Given the description of an element on the screen output the (x, y) to click on. 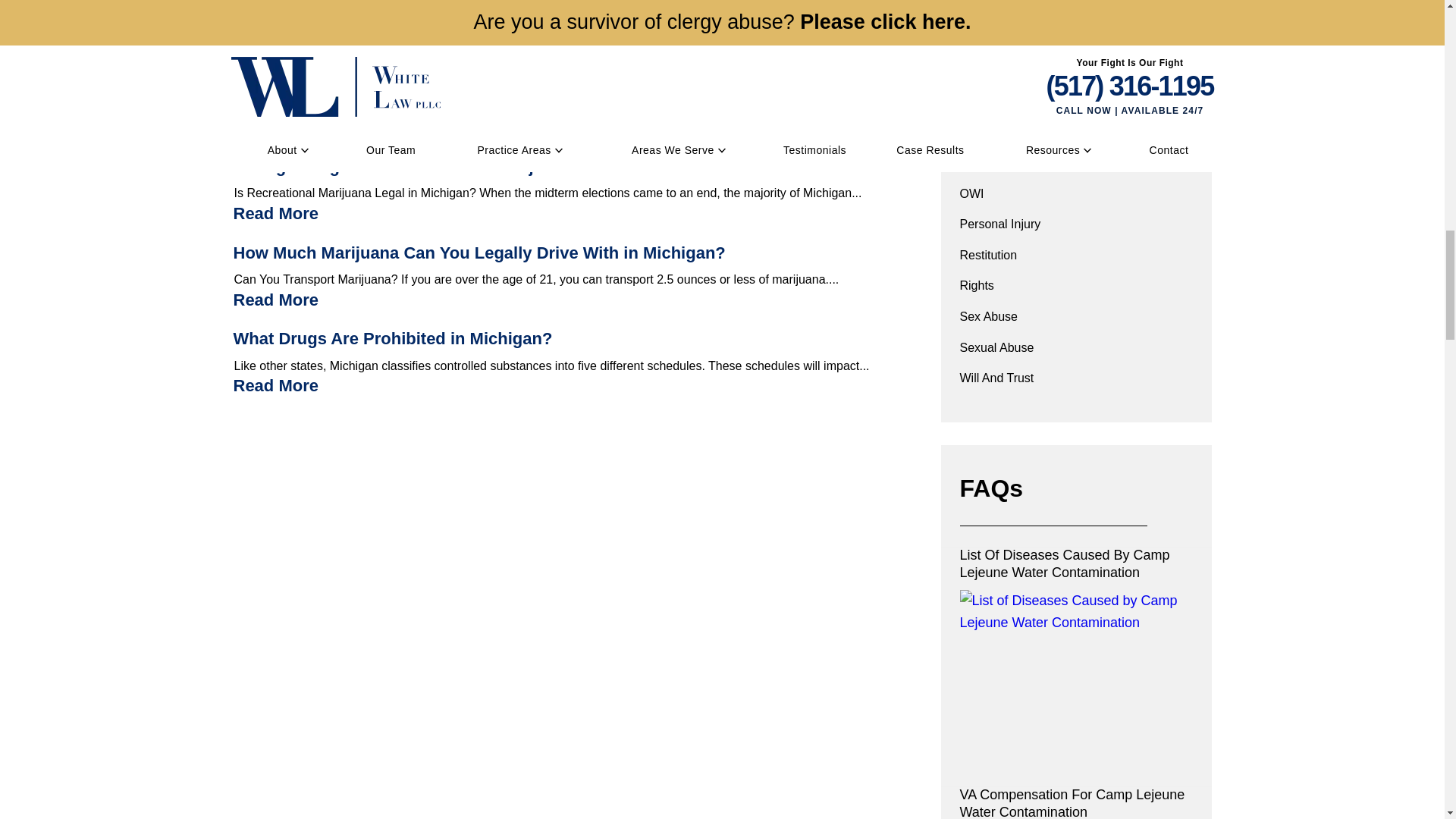
How Much Marijuana Can You Legally Drive With in Michigan? (275, 299)
Michigan Legalizes Recreational Marijuana (402, 166)
Medical Marijuana Law Update: People v. Manuel (275, 126)
What Drugs Are Prohibited in Michigan? (275, 384)
Michigan Legalizes Recreational Marijuana (275, 212)
What Drugs Are Prohibited in Michigan? (392, 338)
How Much Marijuana Can You Legally Drive With in Michigan? (478, 252)
Medical Marijuana Law Update: People v. Manuel (426, 80)
